Given the description of an element on the screen output the (x, y) to click on. 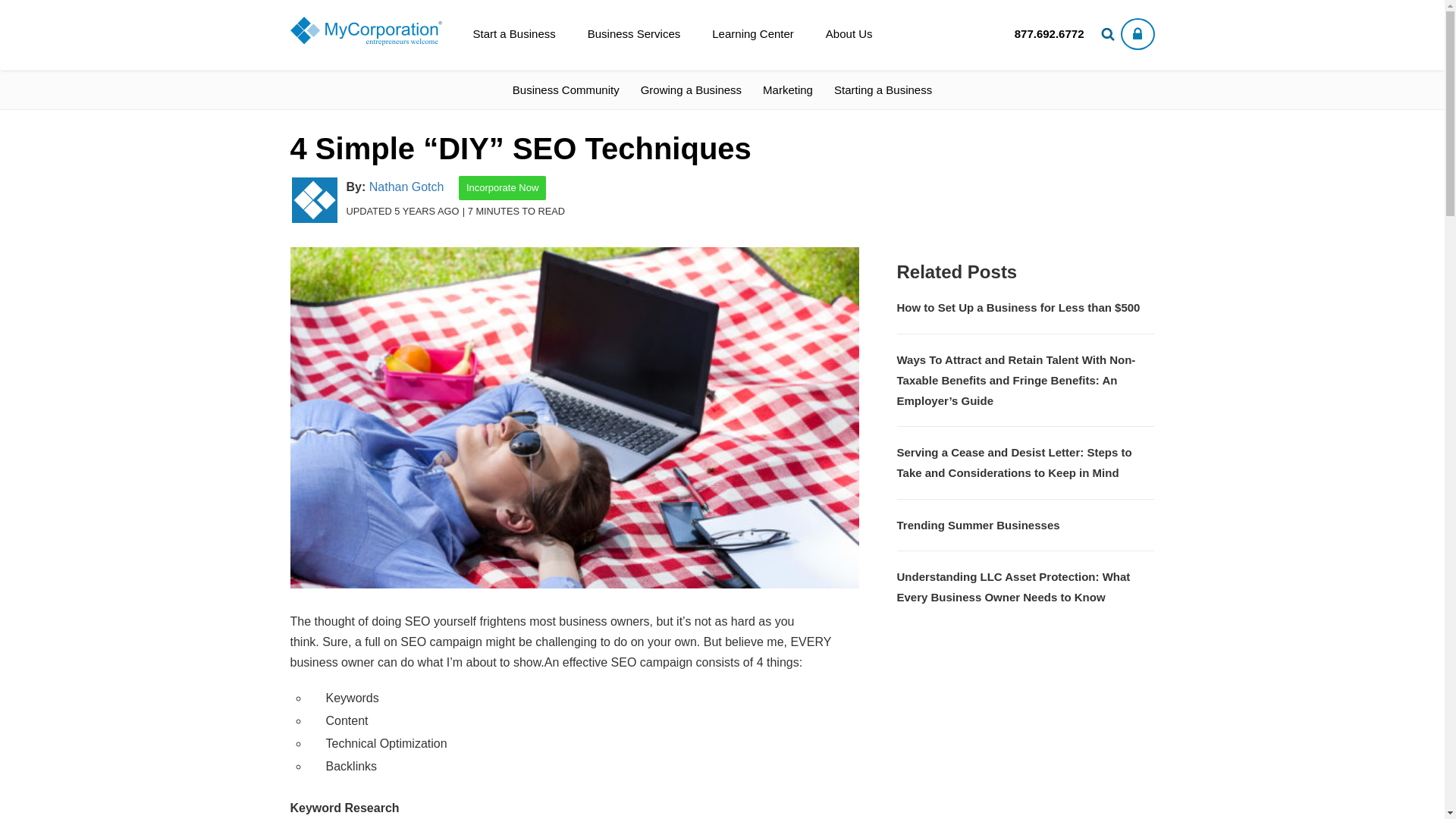
Posts by Nathan Gotch (406, 186)
Business Services (634, 33)
Start a Business (513, 33)
